Given the description of an element on the screen output the (x, y) to click on. 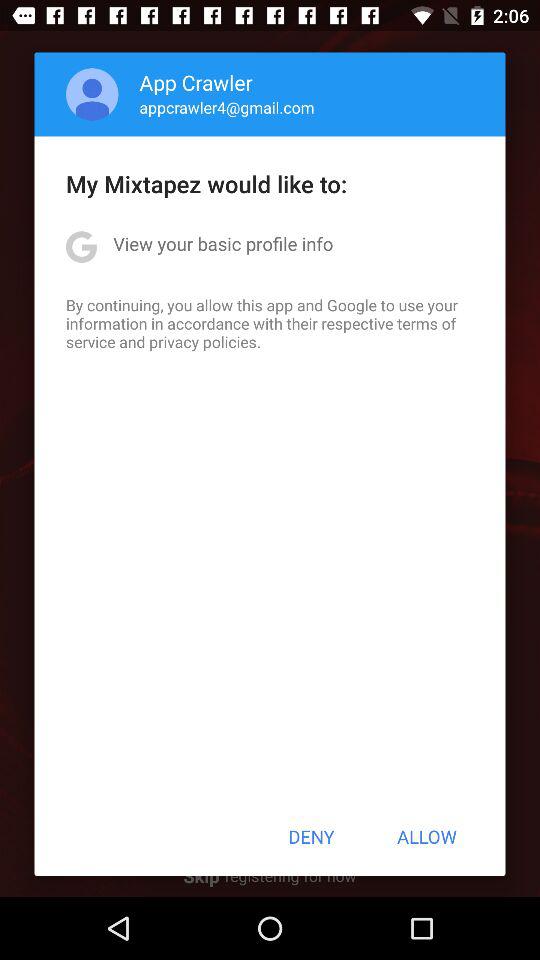
choose item above the by continuing you (223, 243)
